Given the description of an element on the screen output the (x, y) to click on. 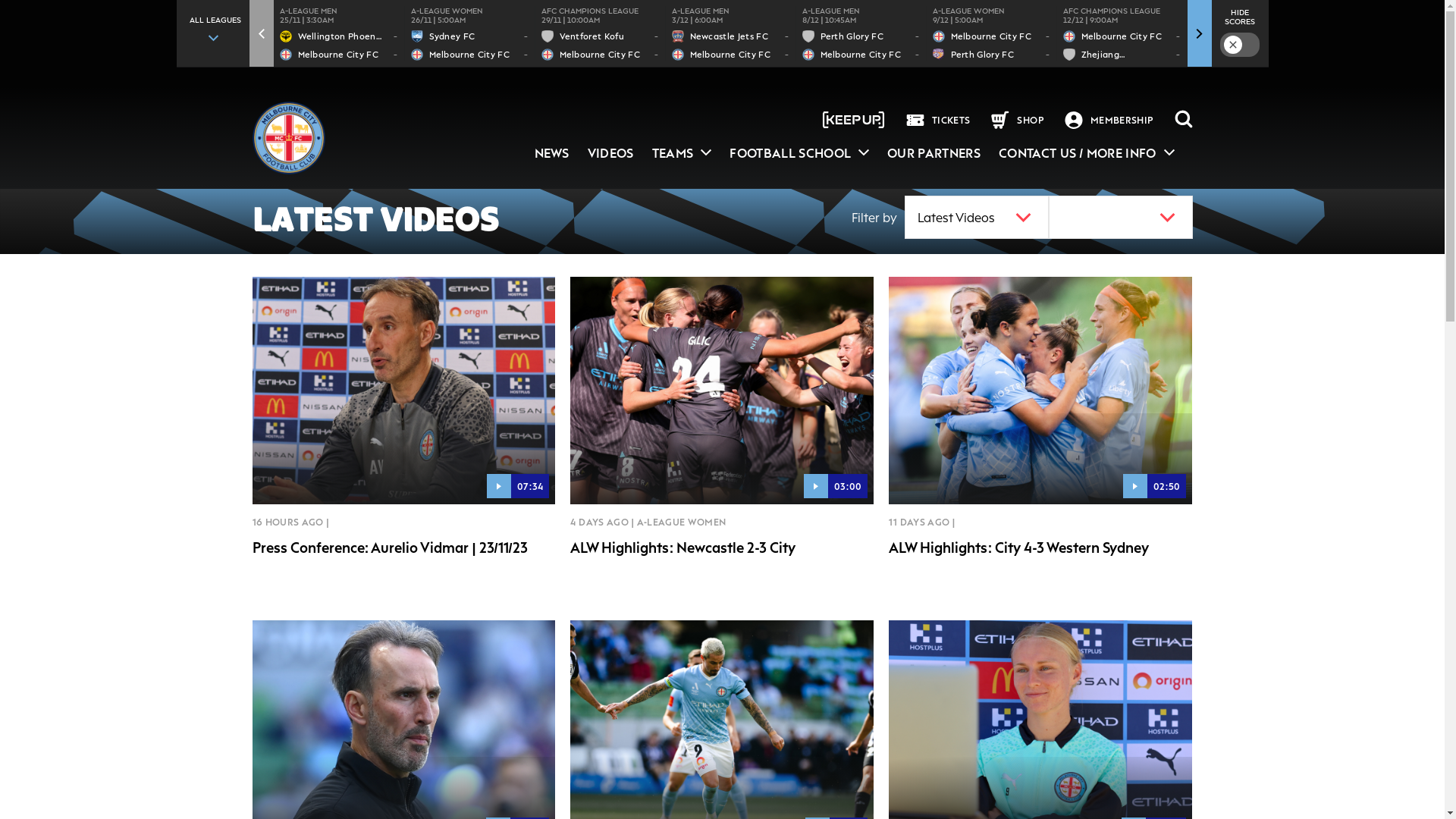
SHOP Element type: text (1027, 119)
FOOTBALL SCHOOL Element type: text (799, 152)
MEMBERSHIP Element type: text (1119, 119)
OUR PARTNERS Element type: text (933, 152)
NEWS Element type: text (551, 152)
CONTACT US / MORE INFO Element type: text (1086, 152)
02:50
11 DAYS AGO |
ALW Highlights: City 4-3 Western Sydney Element type: text (1040, 421)
SEARCH Element type: text (1182, 119)
TICKETS Element type: text (948, 119)
TEAMS Element type: text (682, 152)
VIDEOS Element type: text (610, 152)
